Given the description of an element on the screen output the (x, y) to click on. 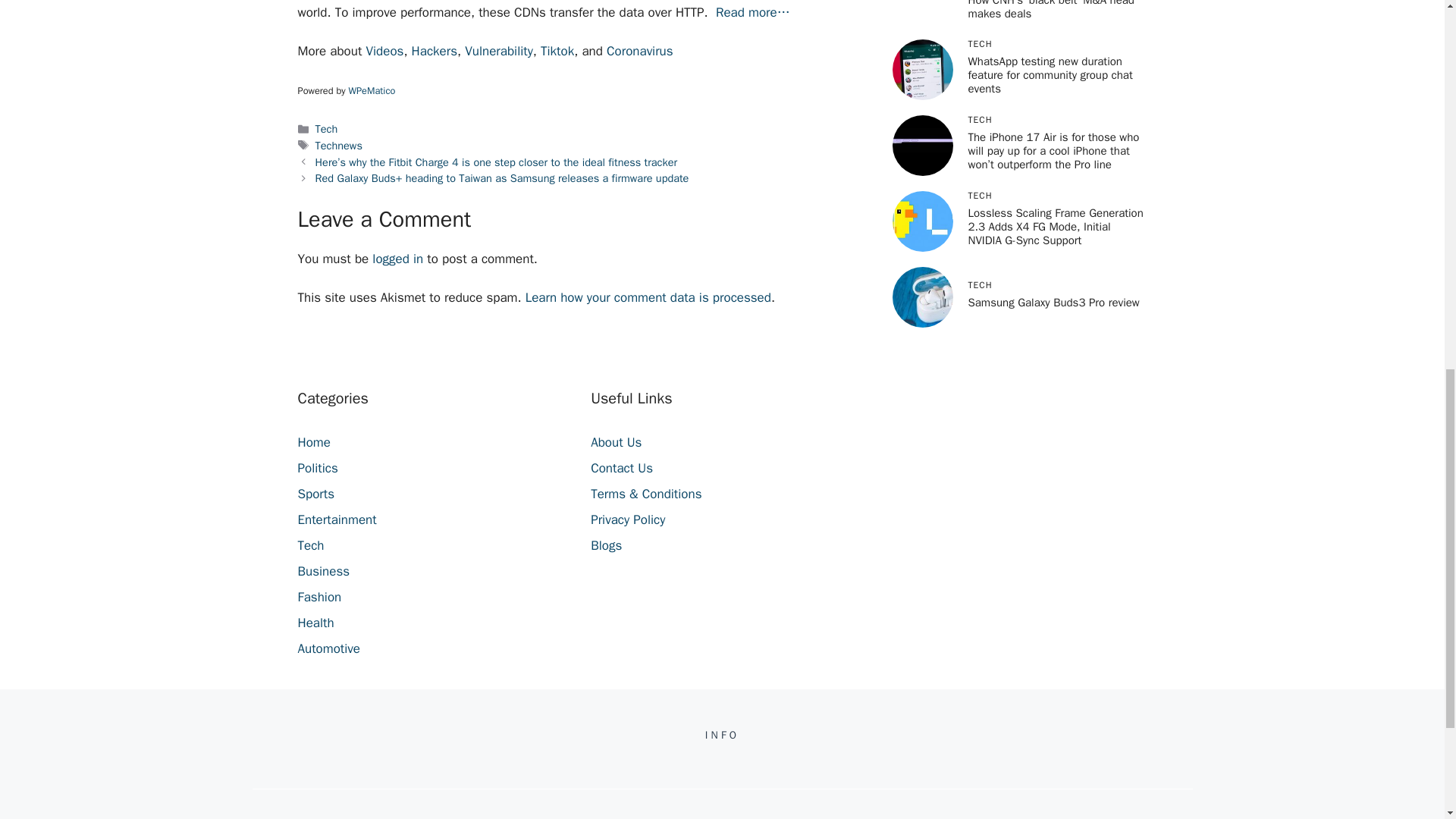
Videos (384, 50)
Samsung Galaxy Buds3 Pro review (1053, 111)
Vulnerability (498, 50)
Technews (338, 145)
logged in (397, 258)
Tiktok (556, 50)
Coronavirus (639, 50)
Hackers (434, 50)
Home (313, 442)
